Given the description of an element on the screen output the (x, y) to click on. 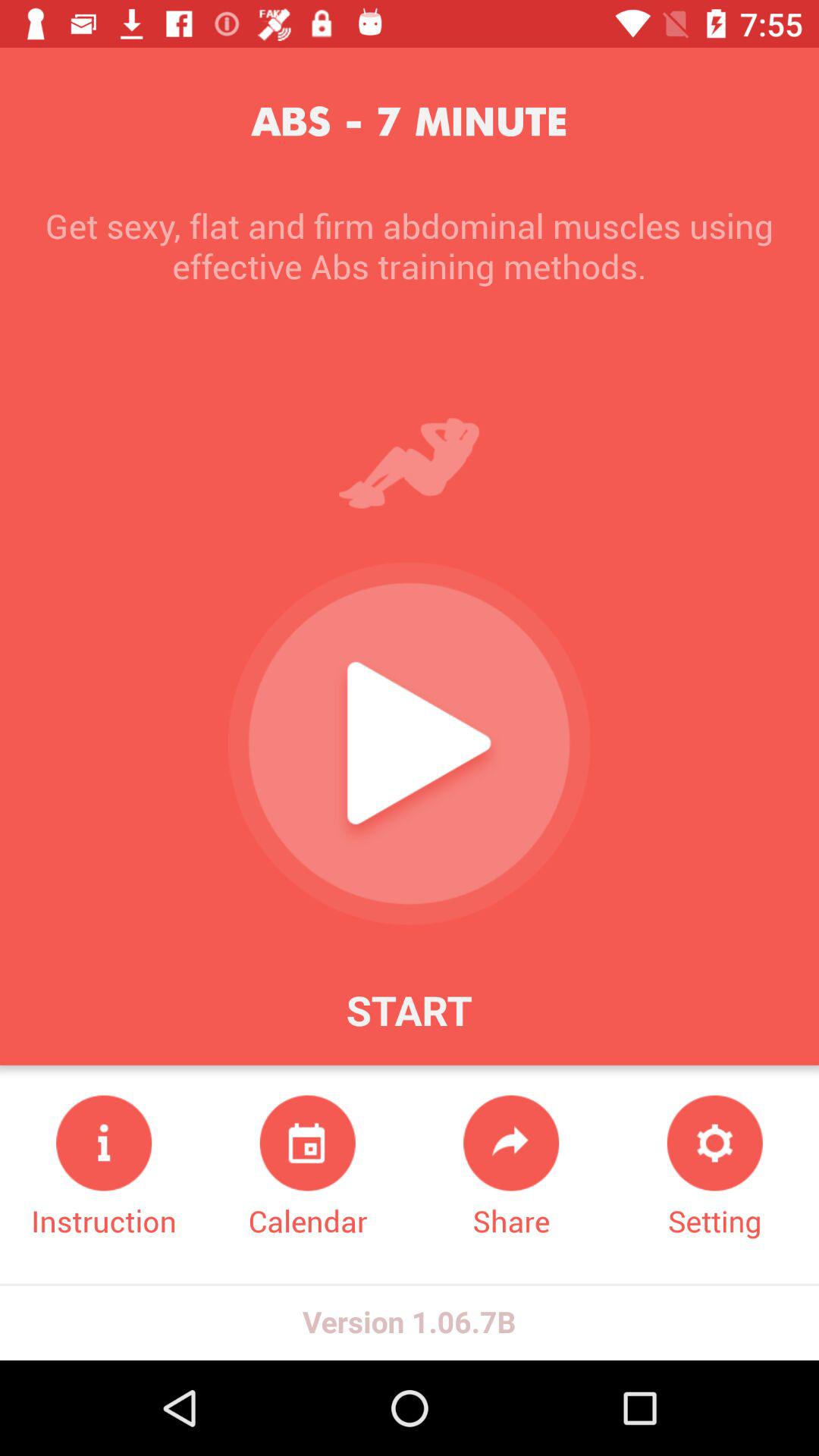
press item next to the calendar item (511, 1168)
